Given the description of an element on the screen output the (x, y) to click on. 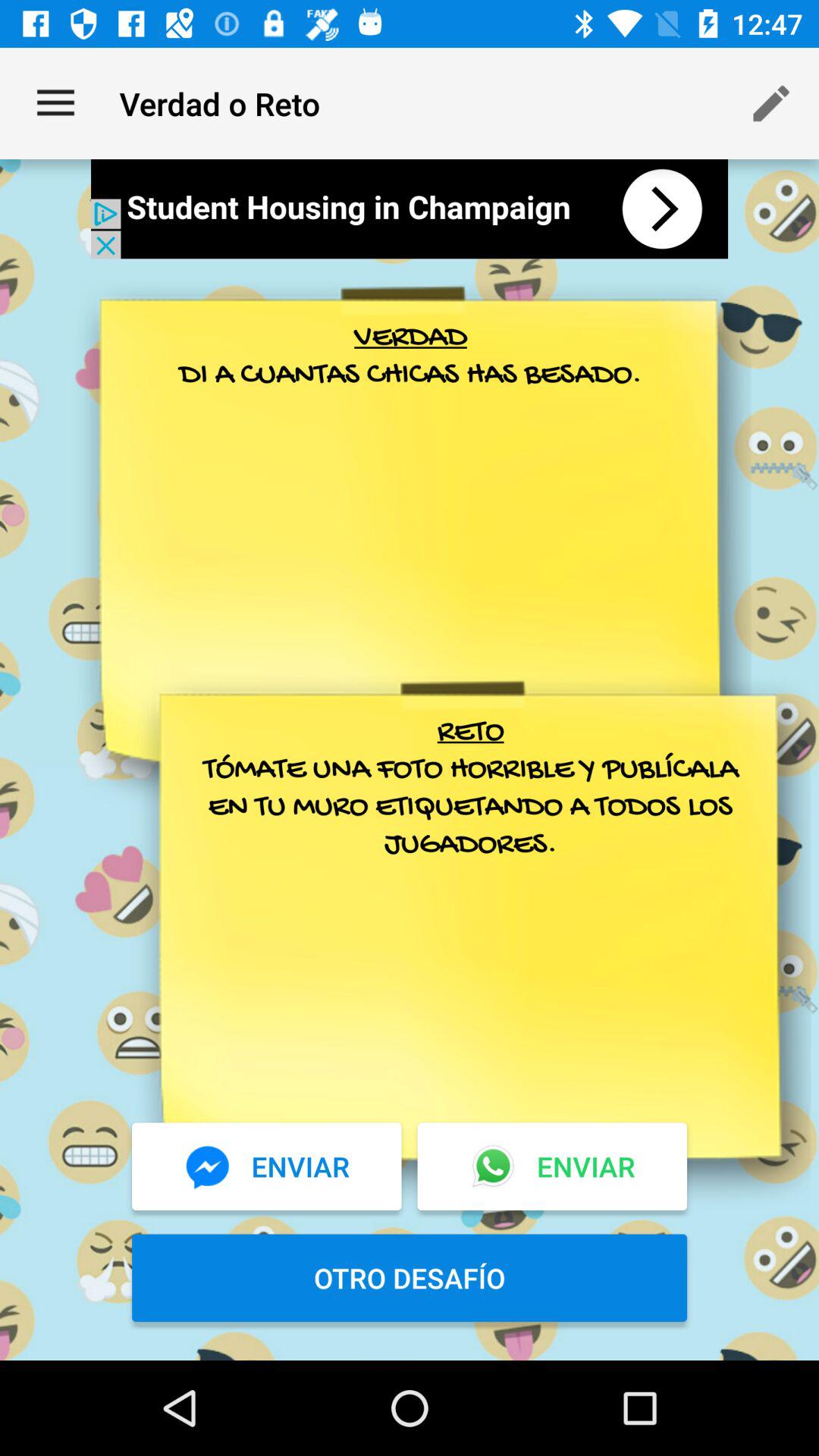
adverisment selection (409, 208)
